Given the description of an element on the screen output the (x, y) to click on. 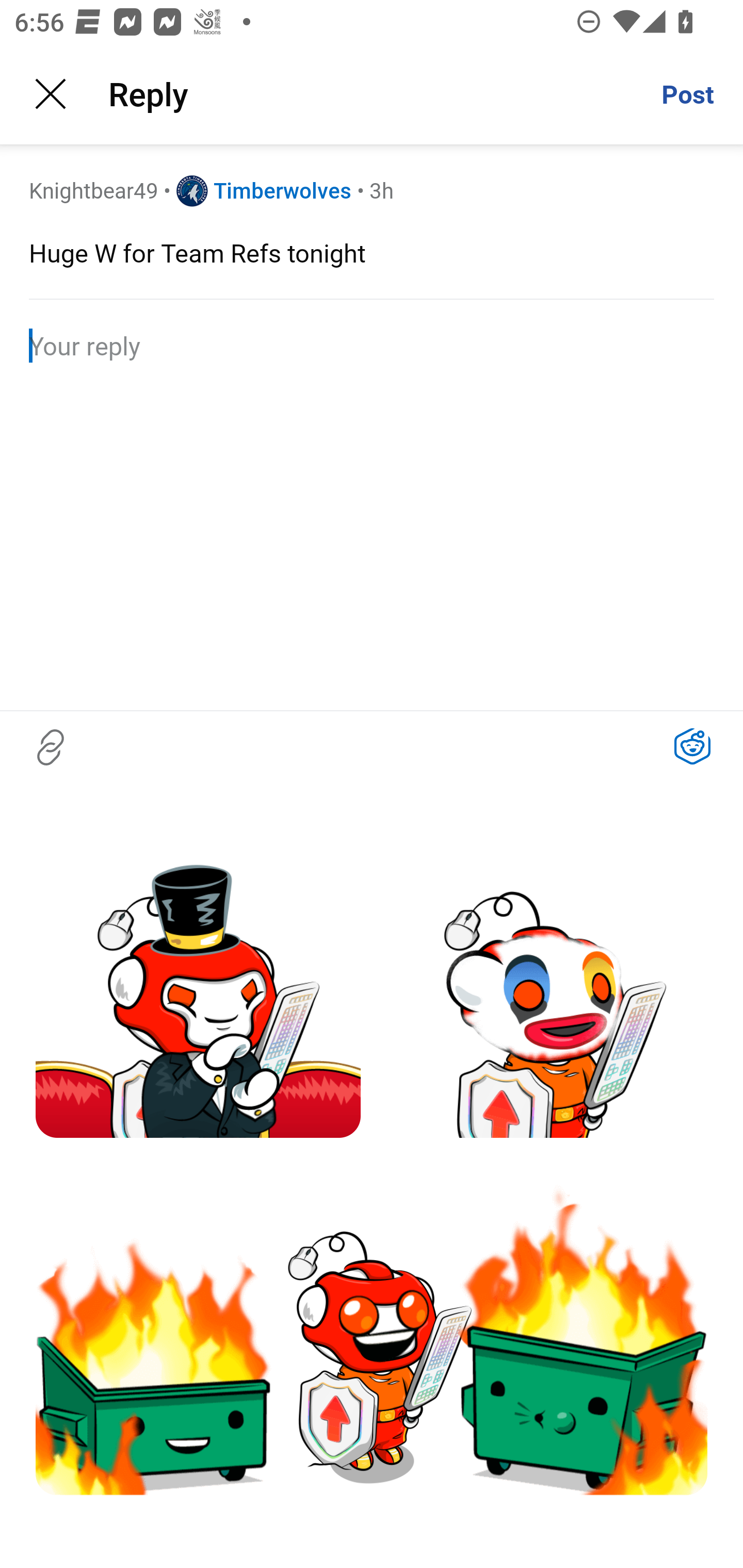
Close (50, 93)
Post (687, 94)
Your reply (371, 345)
Insert a link (50, 746)
Show Expressions (692, 746)
bravo expression (197, 975)
clown expression (544, 975)
fire expression (371, 1326)
